Given the description of an element on the screen output the (x, y) to click on. 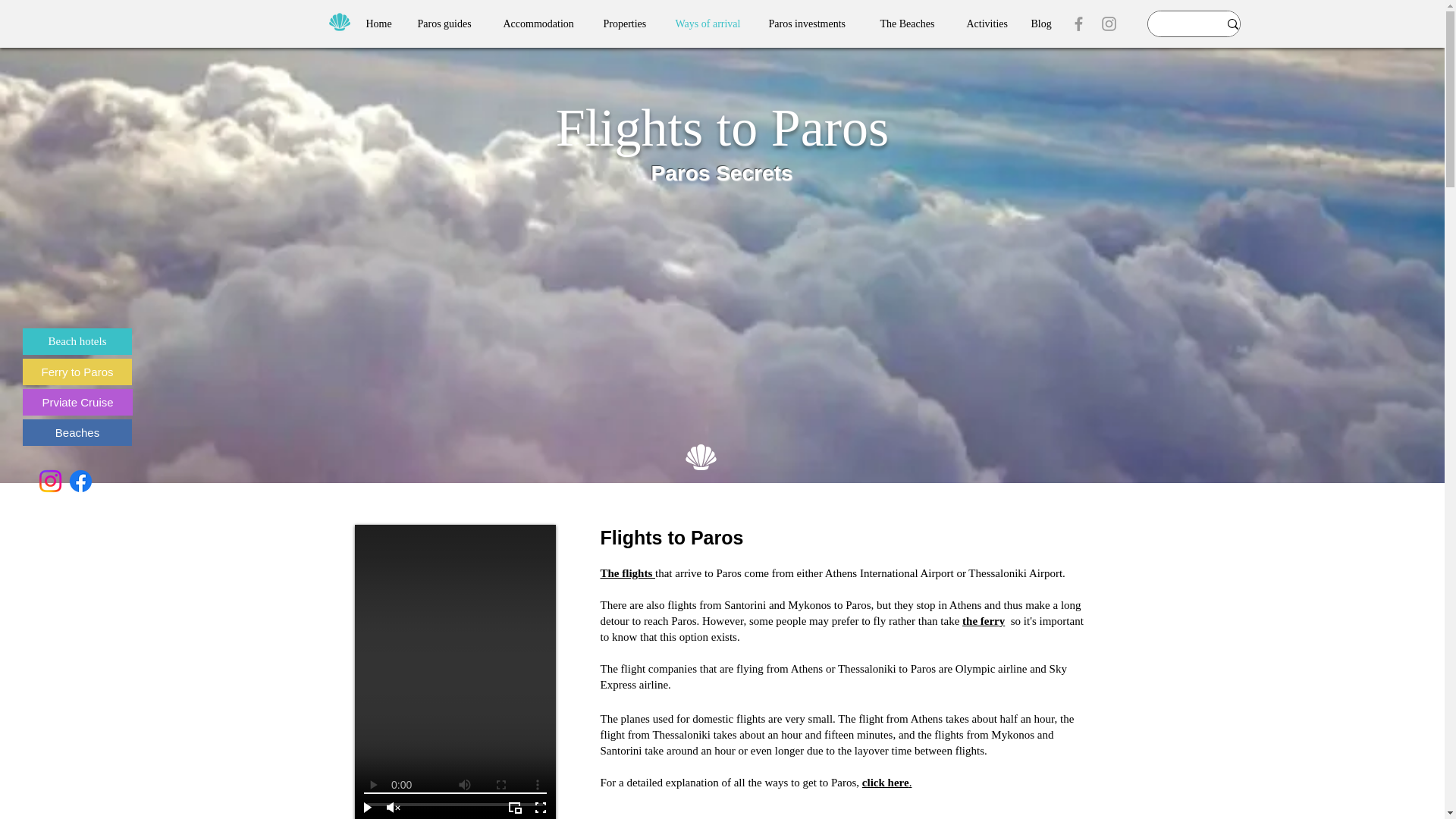
Properties (627, 23)
Ways of arrival (710, 23)
Home (380, 23)
Activities (987, 23)
Paros investments (812, 23)
The Beaches (912, 23)
